Given the description of an element on the screen output the (x, y) to click on. 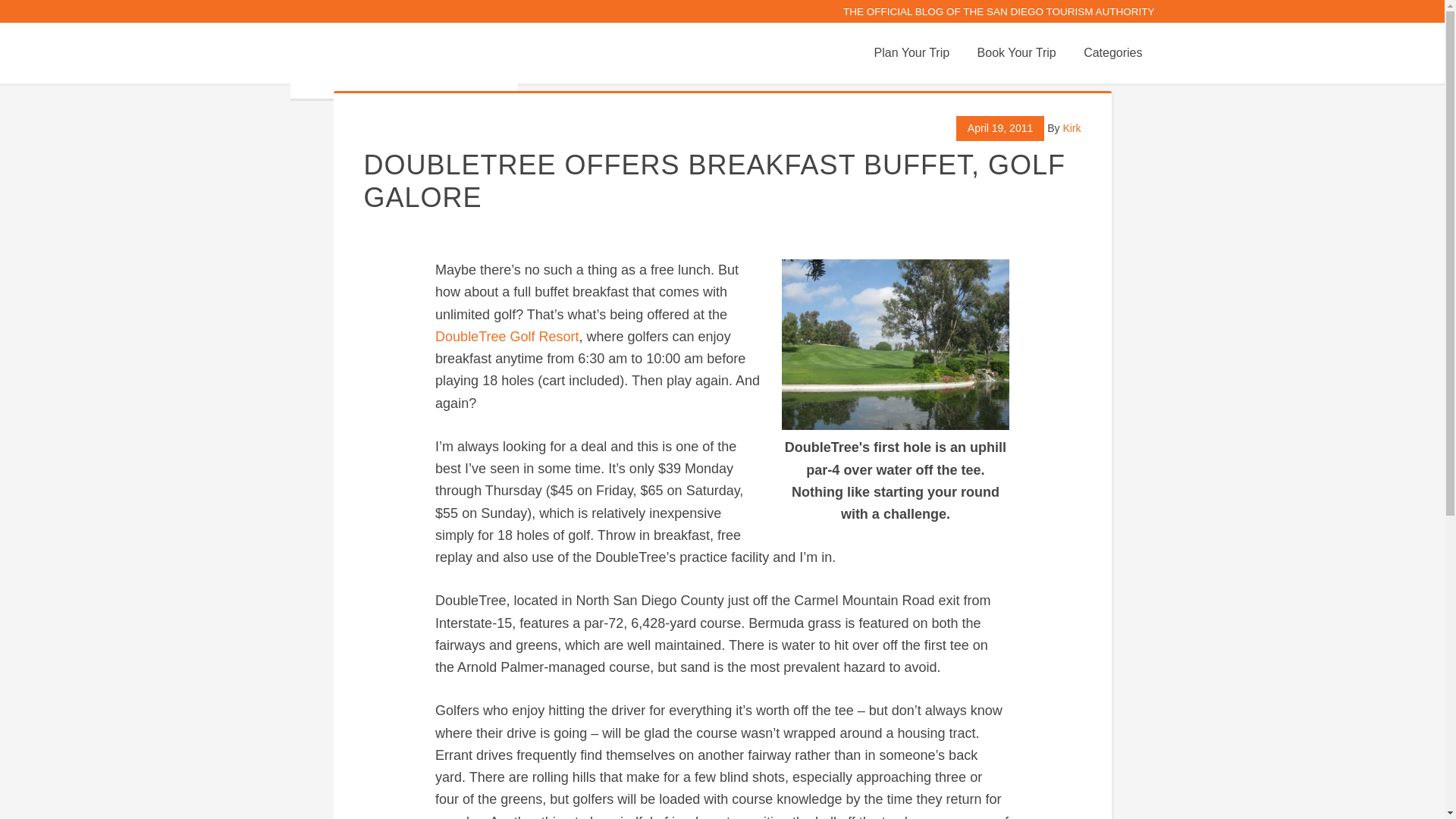
Categories (1112, 52)
SAN DIEGO TRAVEL BLOG (402, 60)
Book Your Trip (1016, 52)
Plan Your Trip (911, 52)
DoubleTree Golf Resort (506, 336)
DoubleTree Golf Resort (506, 336)
Kirk (1071, 128)
